Given the description of an element on the screen output the (x, y) to click on. 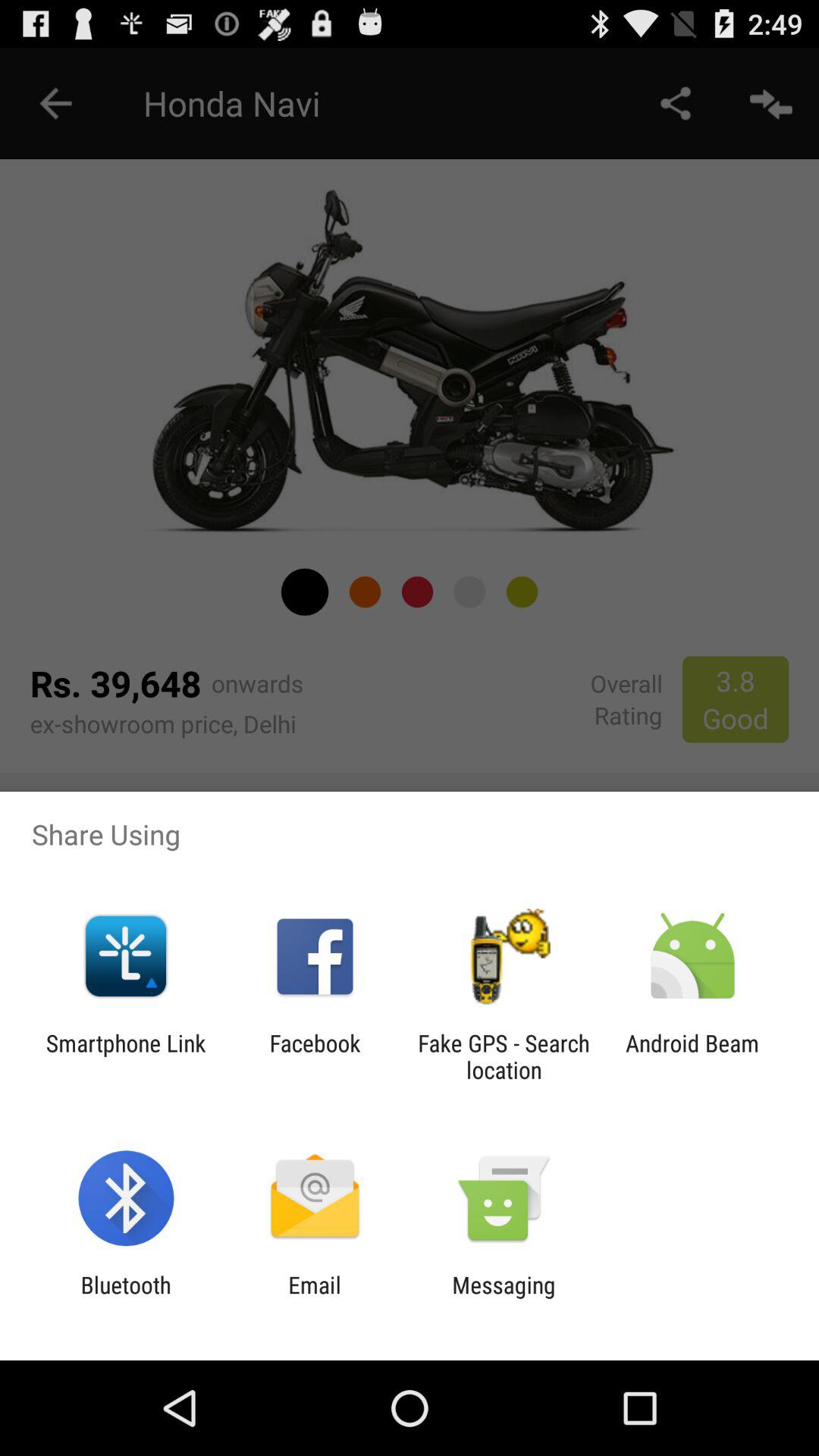
tap the app to the right of the bluetooth (314, 1298)
